Given the description of an element on the screen output the (x, y) to click on. 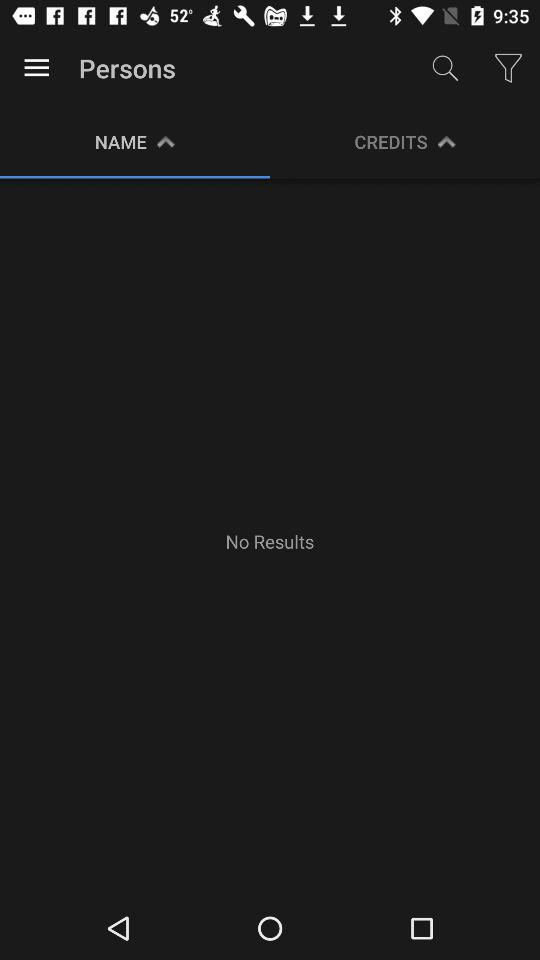
show menu (36, 68)
